Given the description of an element on the screen output the (x, y) to click on. 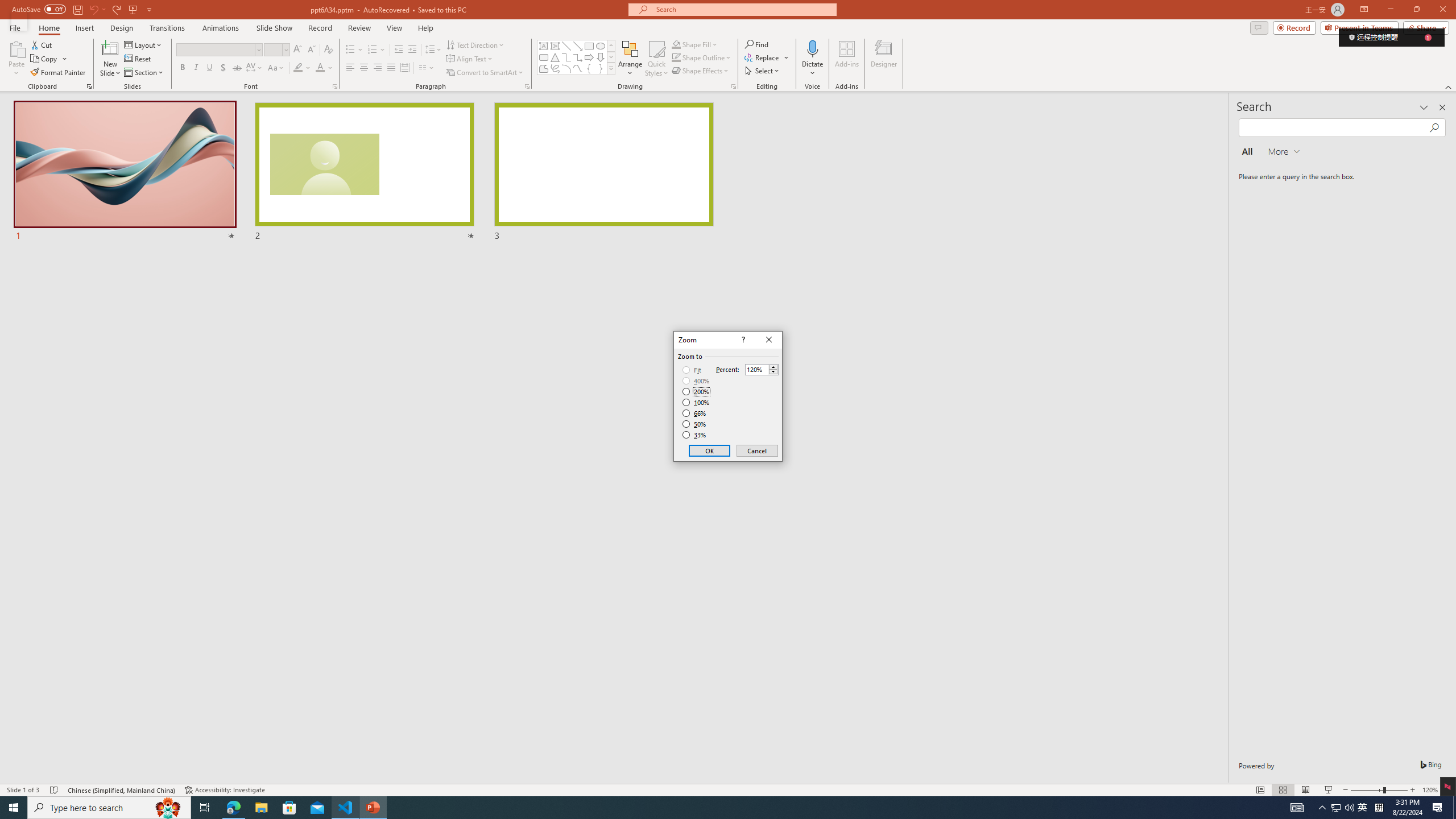
Search highlights icon opens search home window (167, 807)
Change Case (1335, 807)
Columns (276, 67)
Type here to search (426, 67)
Freeform: Shape (108, 807)
